Given the description of an element on the screen output the (x, y) to click on. 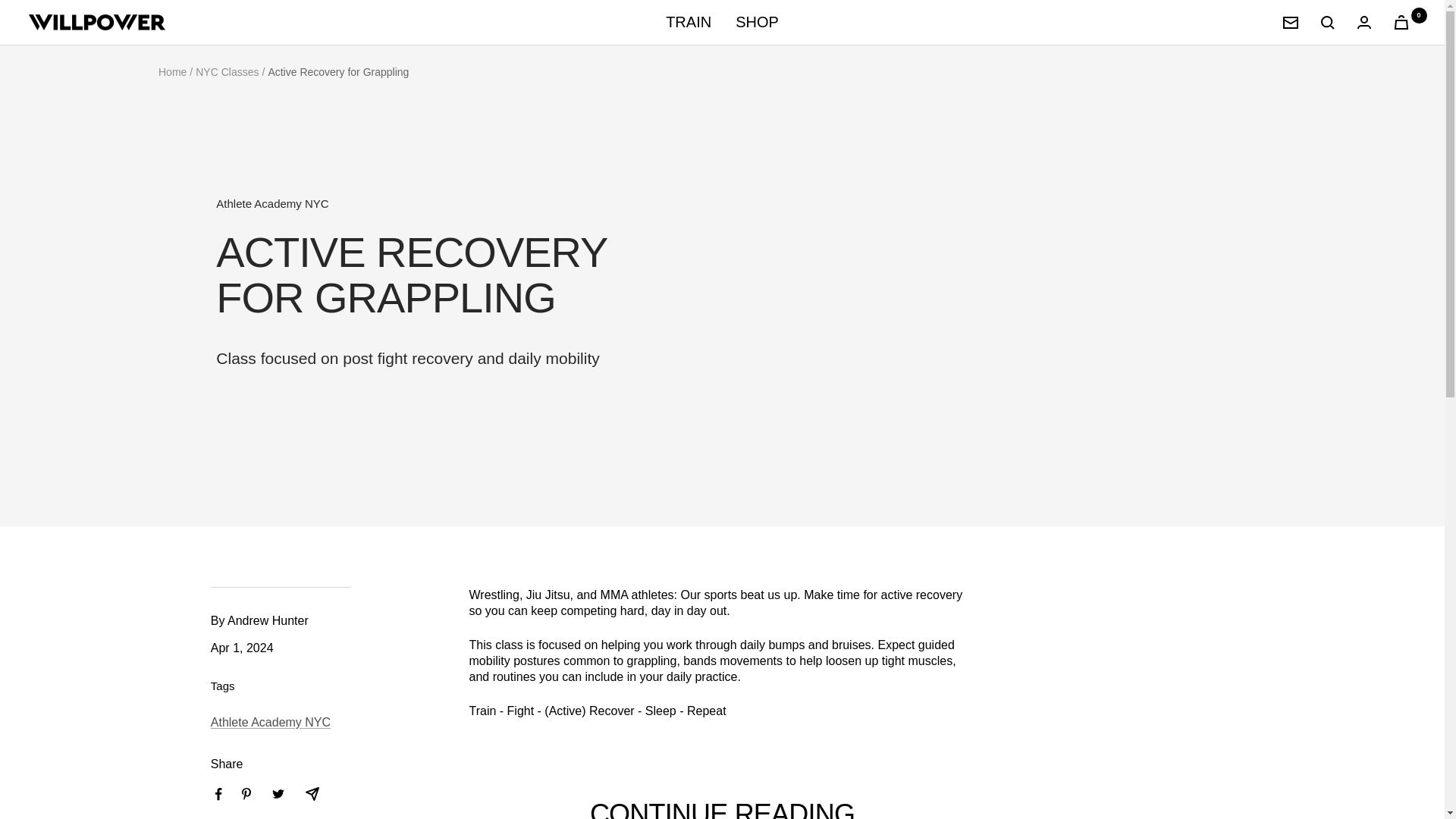
TRAIN (688, 22)
NYC Classes (227, 71)
Home (172, 71)
Athlete Academy NYC (441, 203)
SHOP (756, 22)
Willpower USA (97, 22)
0 (1401, 21)
Athlete Academy NYC (270, 721)
Newsletter (1290, 22)
